Given the description of an element on the screen output the (x, y) to click on. 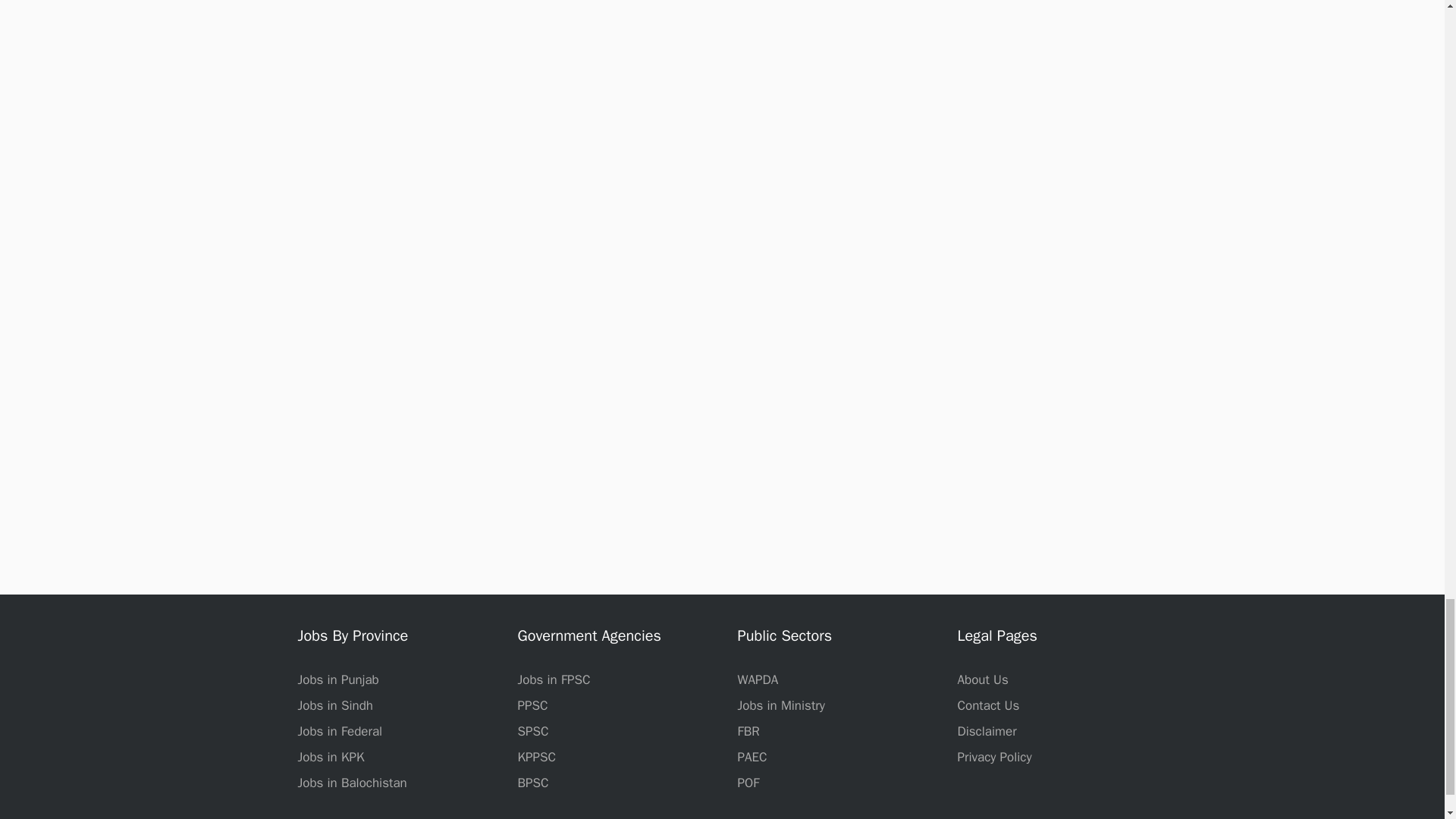
KPPSC (536, 756)
PPSC (531, 705)
FBR (747, 731)
BPSC (532, 782)
Jobs in Ministry (780, 705)
Jobs in Federal (339, 731)
Jobs in Balochistan (351, 782)
Contact Us (987, 705)
SPSC (532, 731)
Jobs in KPK (330, 756)
Jobs in FPSC (552, 679)
POF (747, 782)
Jobs in Sindh (334, 705)
WAPDA (756, 679)
PAEC (751, 756)
